Given the description of an element on the screen output the (x, y) to click on. 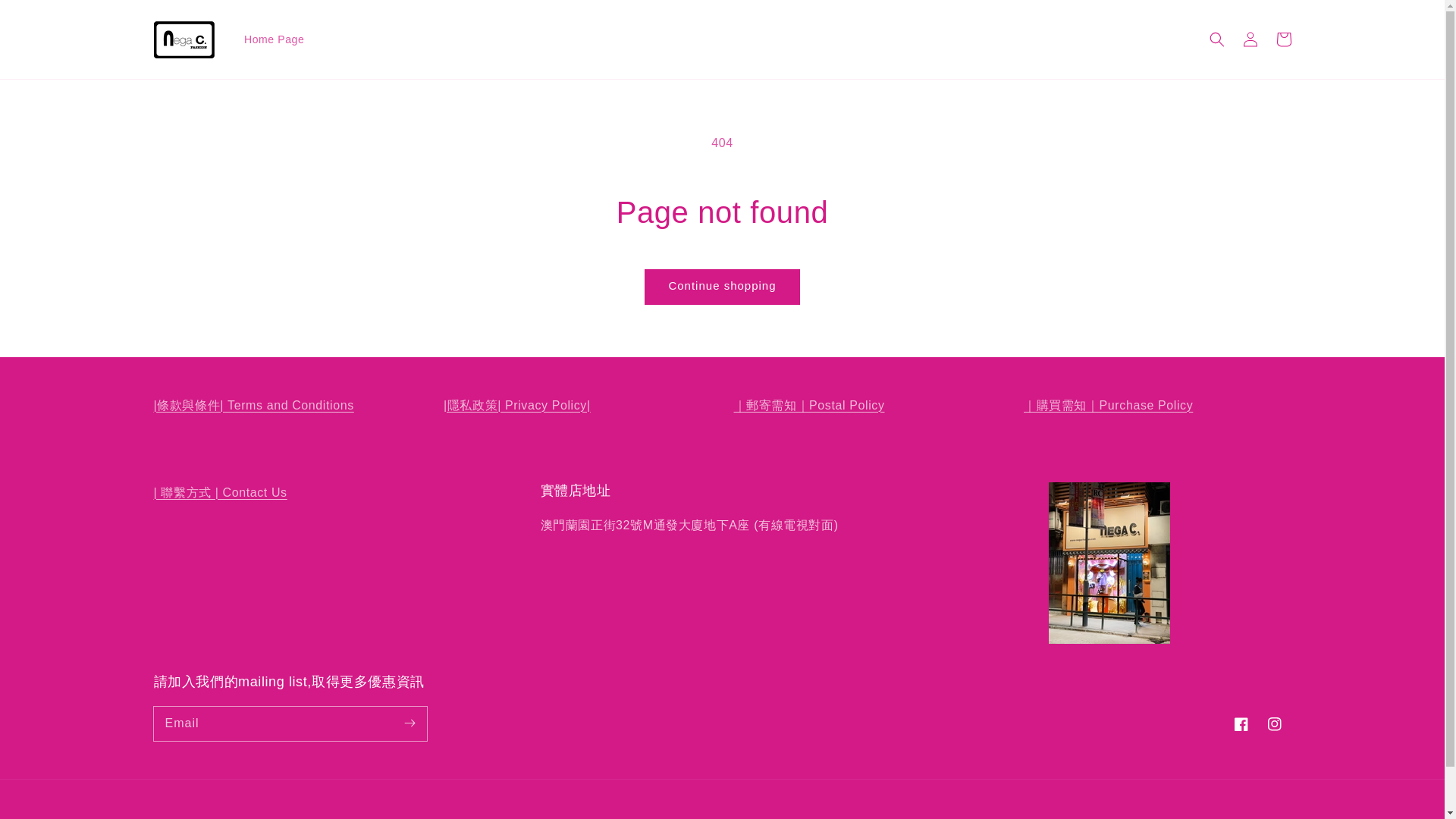
Continue shopping (721, 286)
Log in (1249, 39)
Instagram (1273, 724)
Home Page (273, 39)
Cart (1283, 39)
Skip to content (45, 16)
Facebook (1240, 724)
